Given the description of an element on the screen output the (x, y) to click on. 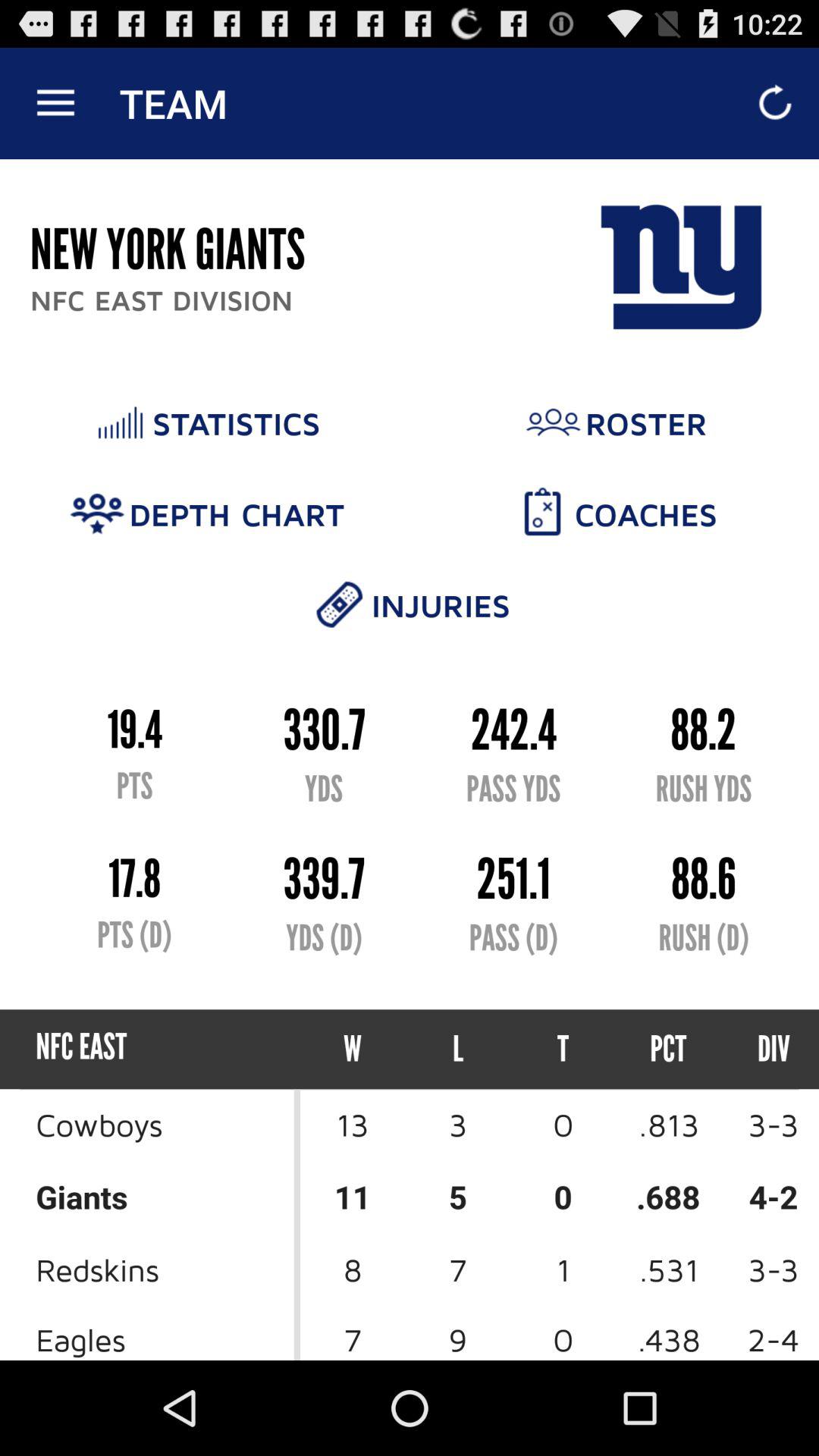
launch app next to the team app (55, 103)
